Given the description of an element on the screen output the (x, y) to click on. 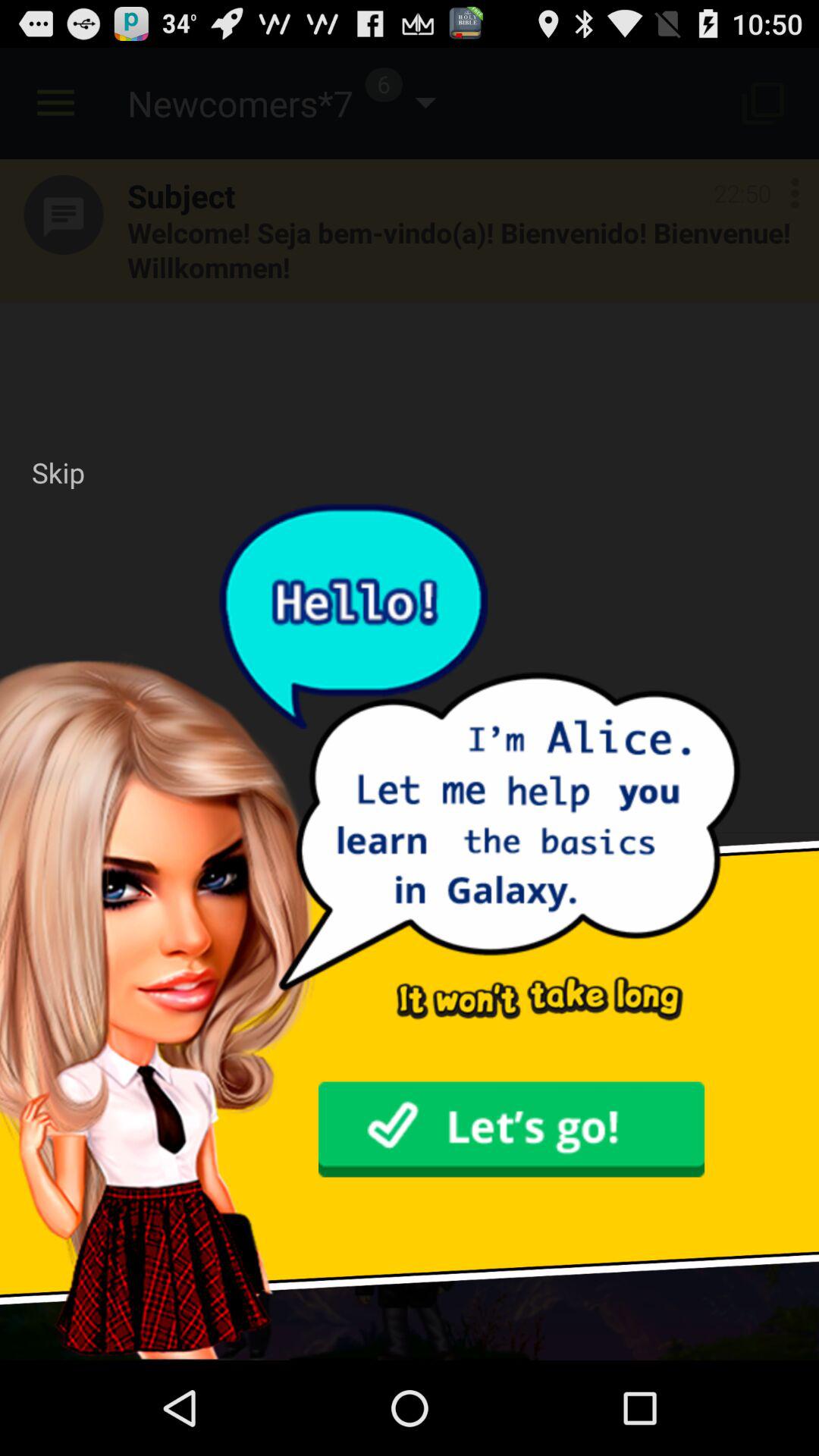
turn off the item at the top left corner (57, 472)
